Given the description of an element on the screen output the (x, y) to click on. 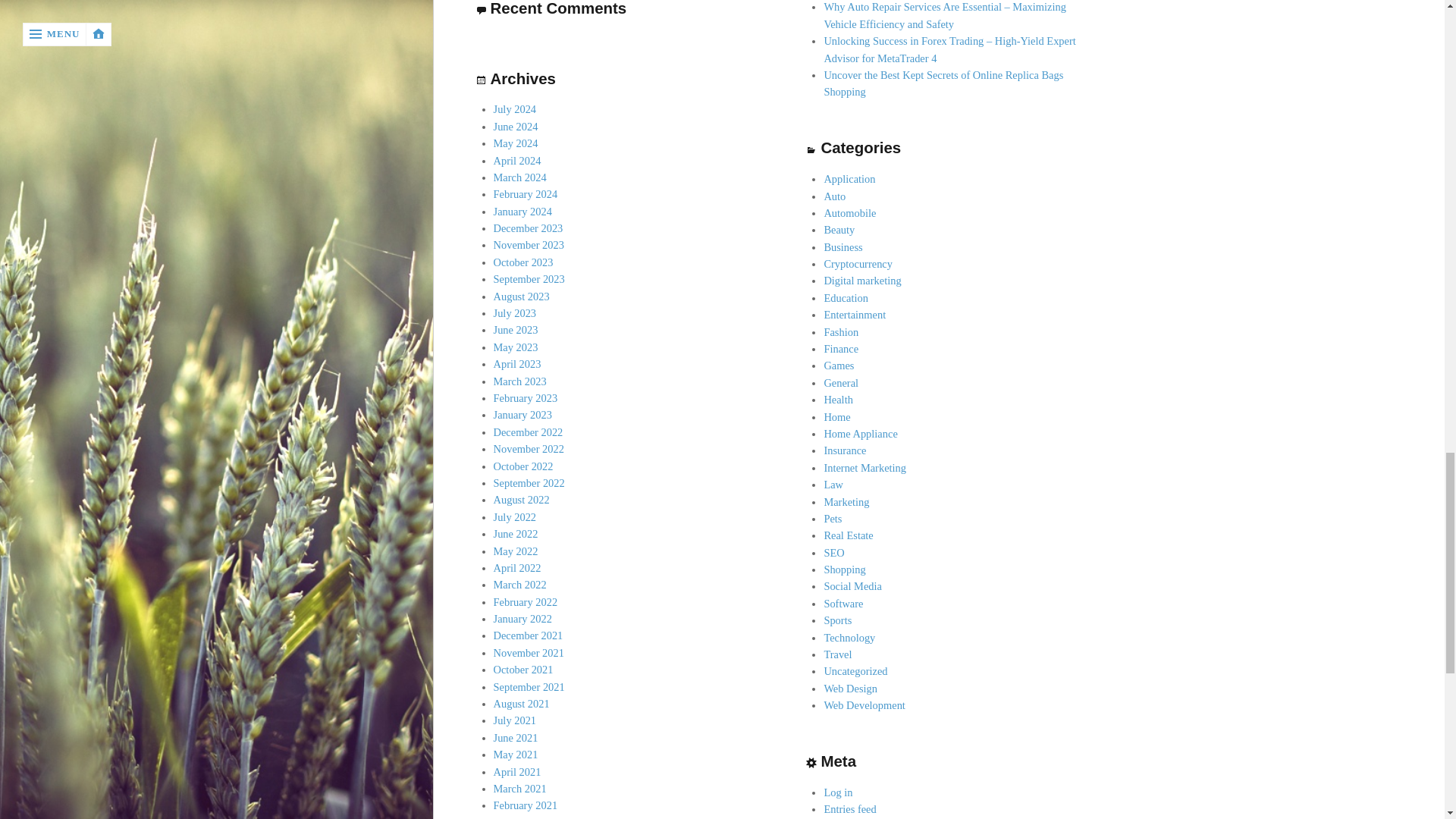
February 2023 (525, 398)
October 2023 (523, 262)
June 2024 (515, 126)
July 2024 (515, 109)
August 2023 (521, 296)
May 2023 (515, 346)
February 2024 (525, 193)
March 2024 (520, 177)
April 2023 (517, 363)
November 2023 (528, 244)
March 2023 (520, 381)
May 2024 (515, 143)
January 2024 (522, 211)
April 2024 (517, 160)
